Given the description of an element on the screen output the (x, y) to click on. 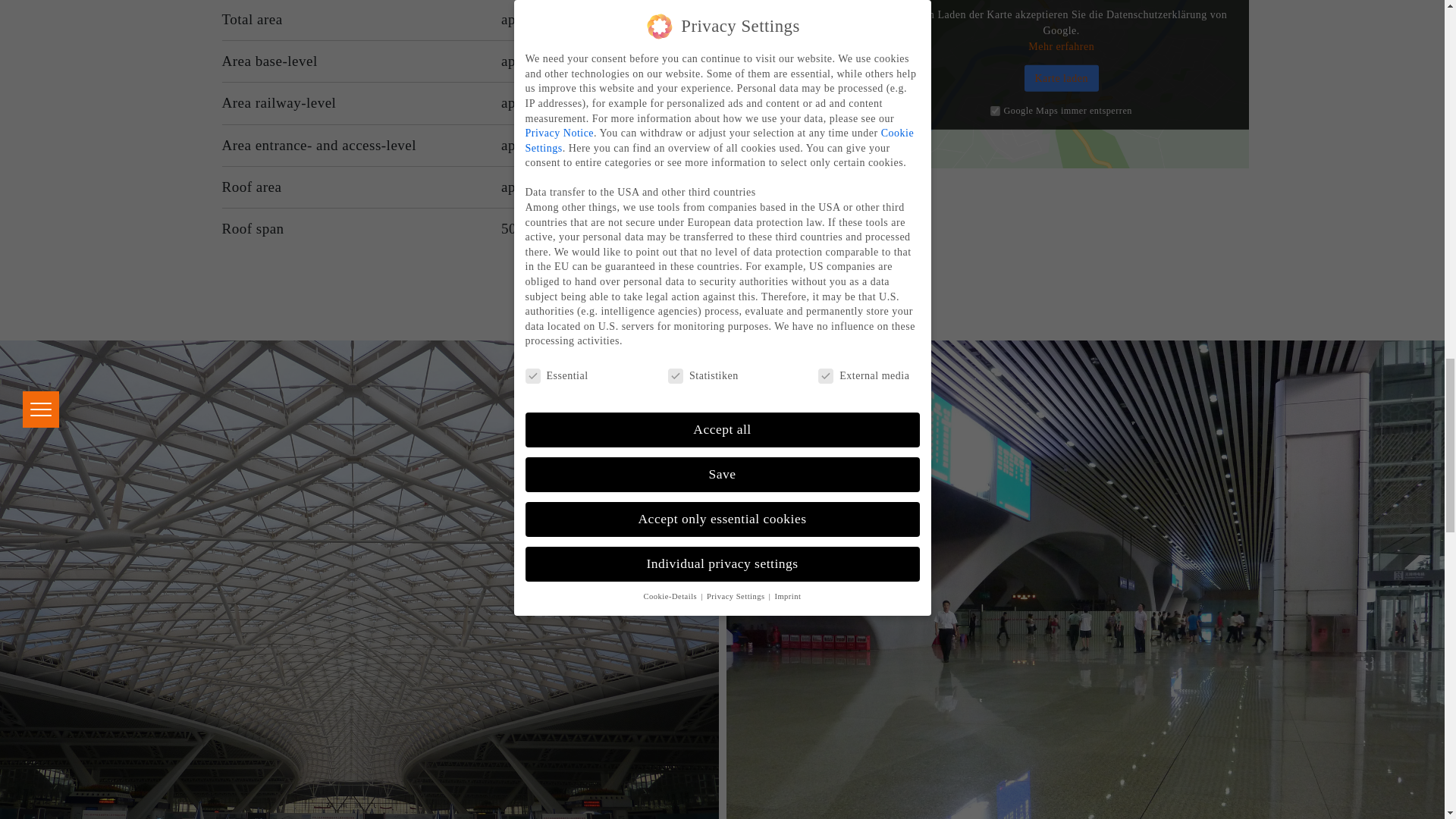
1 (995, 111)
